Given the description of an element on the screen output the (x, y) to click on. 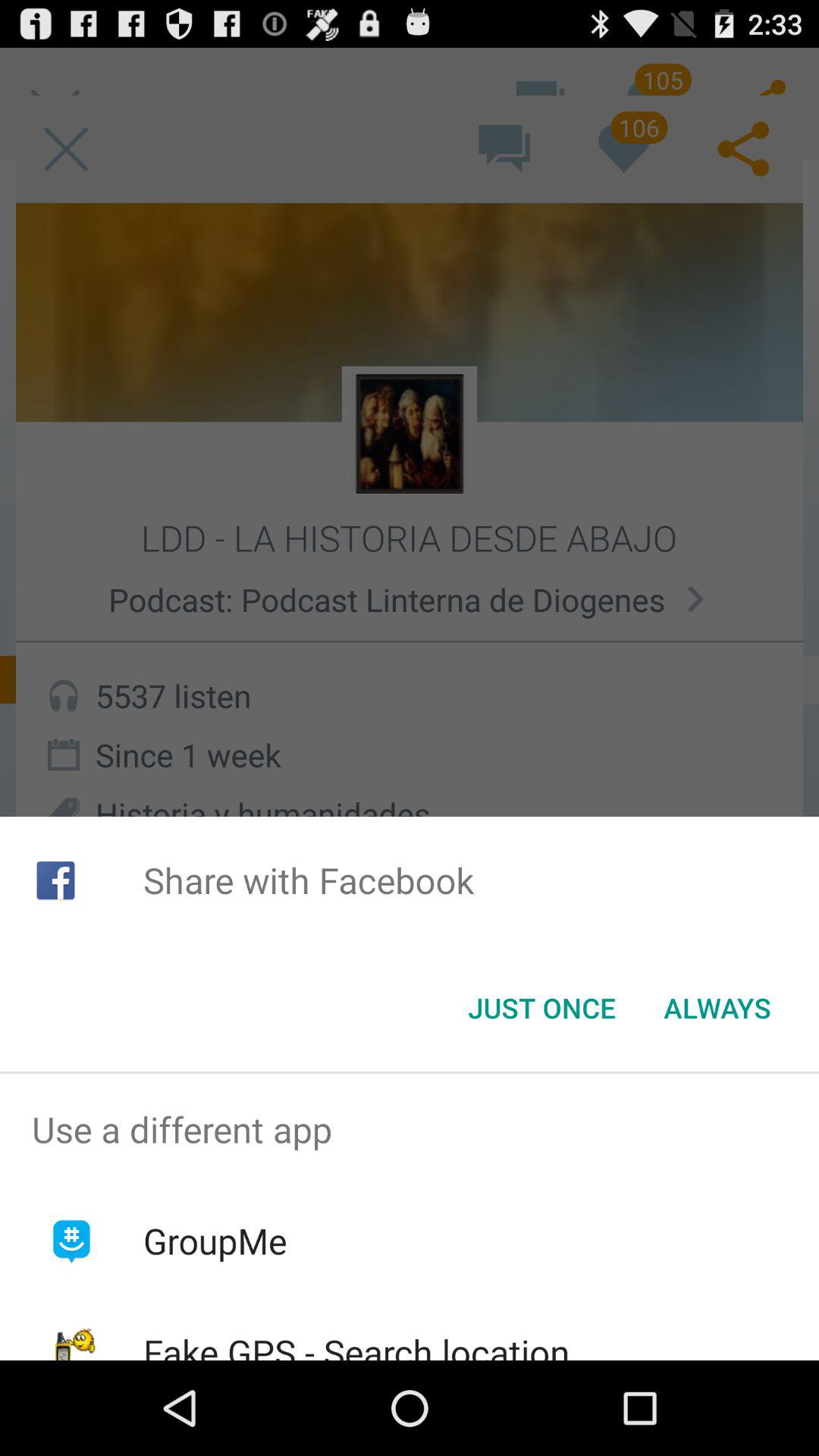
swipe to just once (541, 1007)
